Given the description of an element on the screen output the (x, y) to click on. 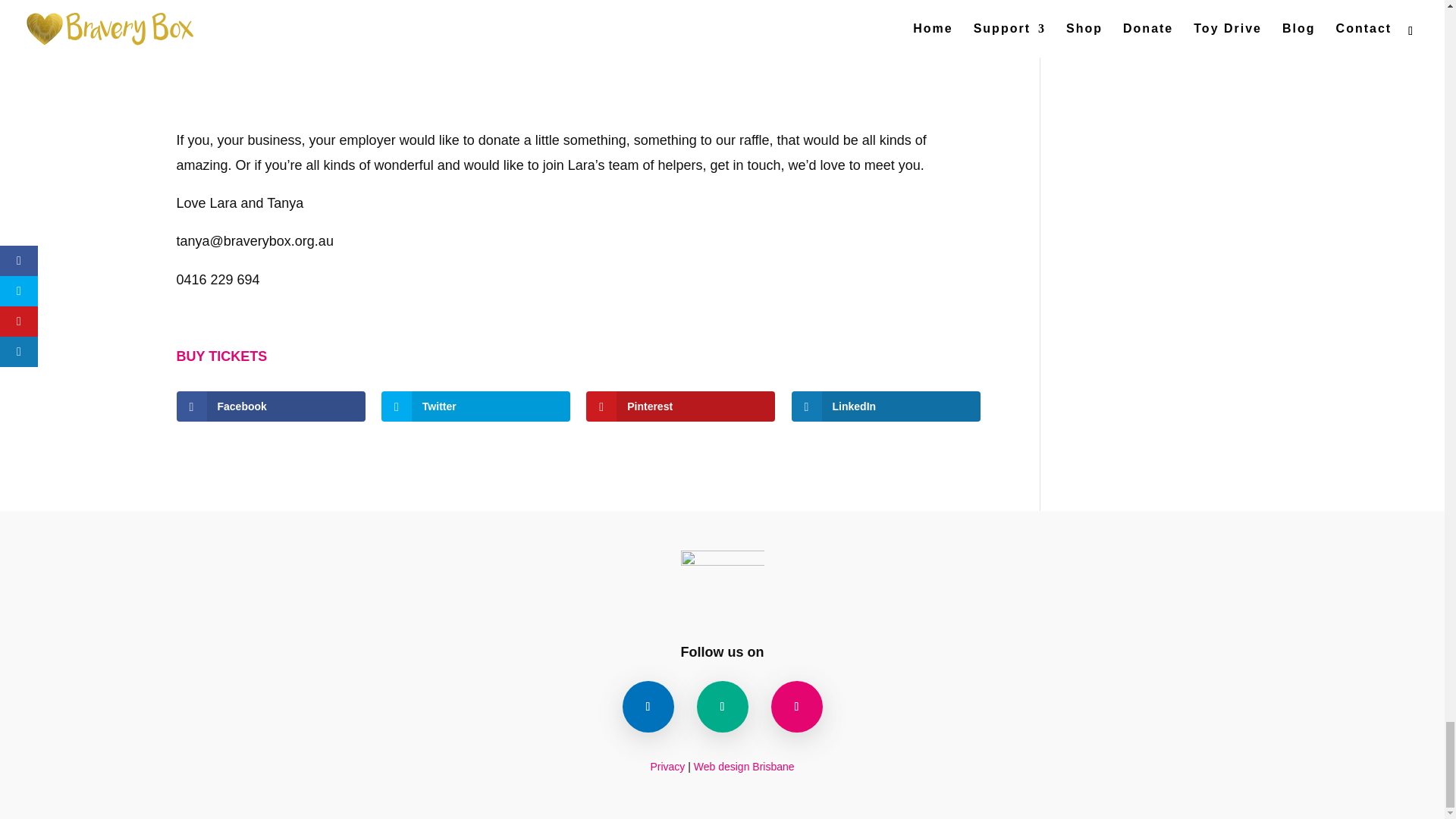
Follow on Youtube (721, 706)
BUY TICKETS (221, 355)
Follow on Instagram (796, 706)
Pinterest (680, 406)
Facebook (270, 406)
logo-smaller (722, 586)
Twitter (475, 406)
LinkedIn (885, 406)
Follow on Facebook (646, 706)
